Given the description of an element on the screen output the (x, y) to click on. 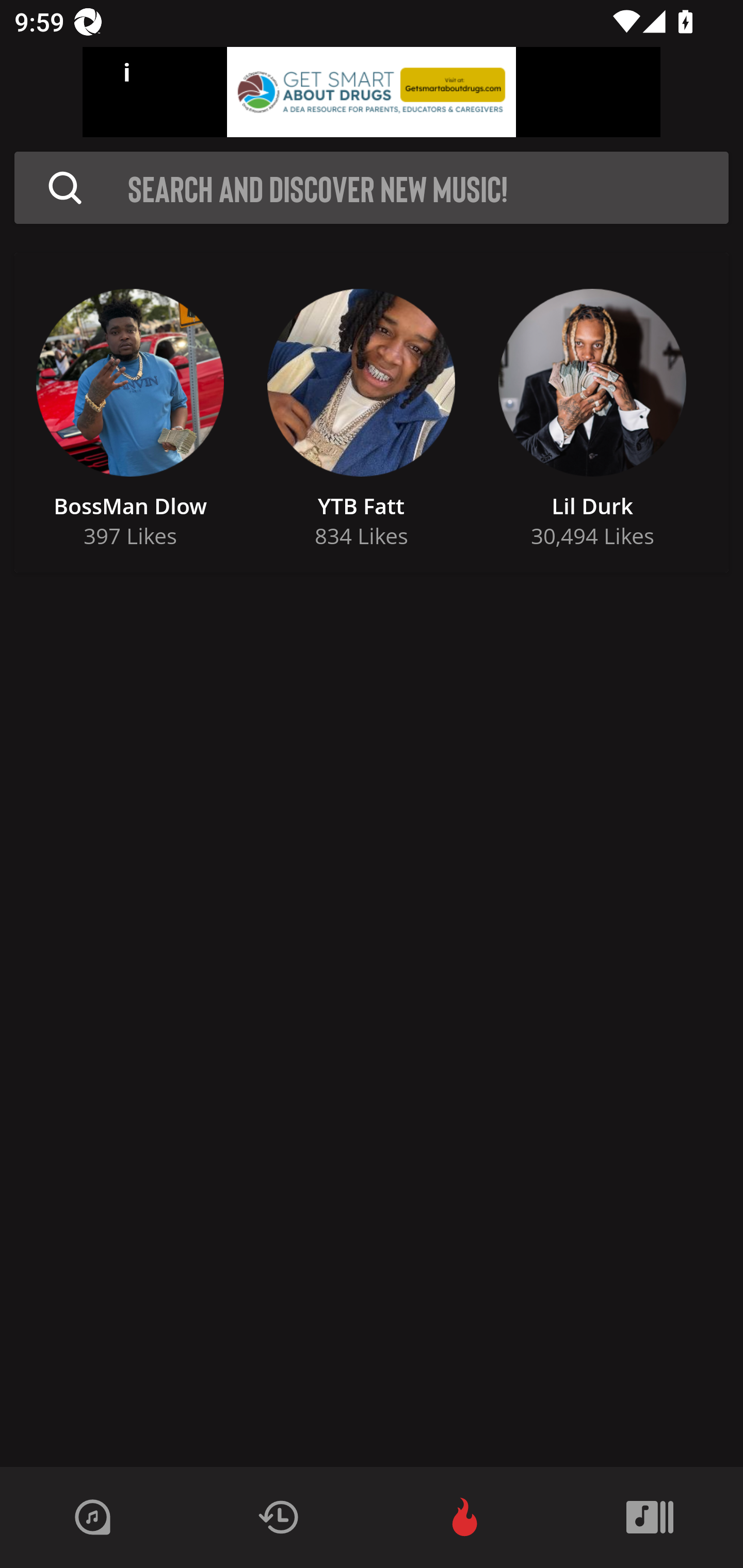
SEARCH AND DISCOVER NEW MUSIC! (427, 188)
Description (64, 188)
Description BossMan Dlow 397 Likes (129, 413)
Description YTB Fatt 834 Likes (360, 413)
Description Lil Durk 30,494 Likes (591, 413)
